Given the description of an element on the screen output the (x, y) to click on. 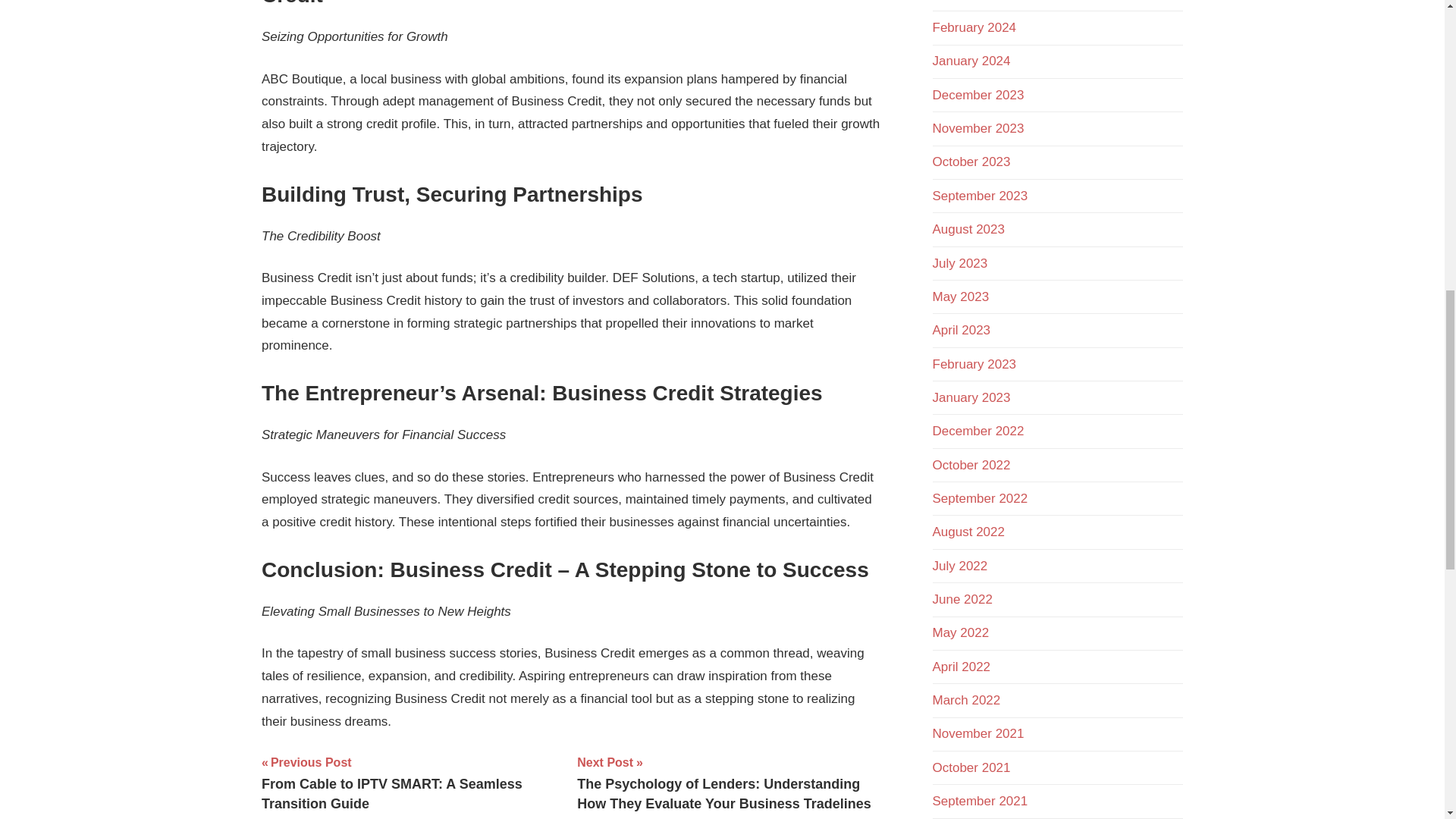
September 2022 (980, 498)
January 2024 (971, 60)
December 2023 (979, 94)
September 2023 (980, 196)
August 2022 (968, 531)
August 2023 (968, 228)
March 2024 (967, 0)
July 2023 (960, 263)
October 2023 (971, 161)
